Given the description of an element on the screen output the (x, y) to click on. 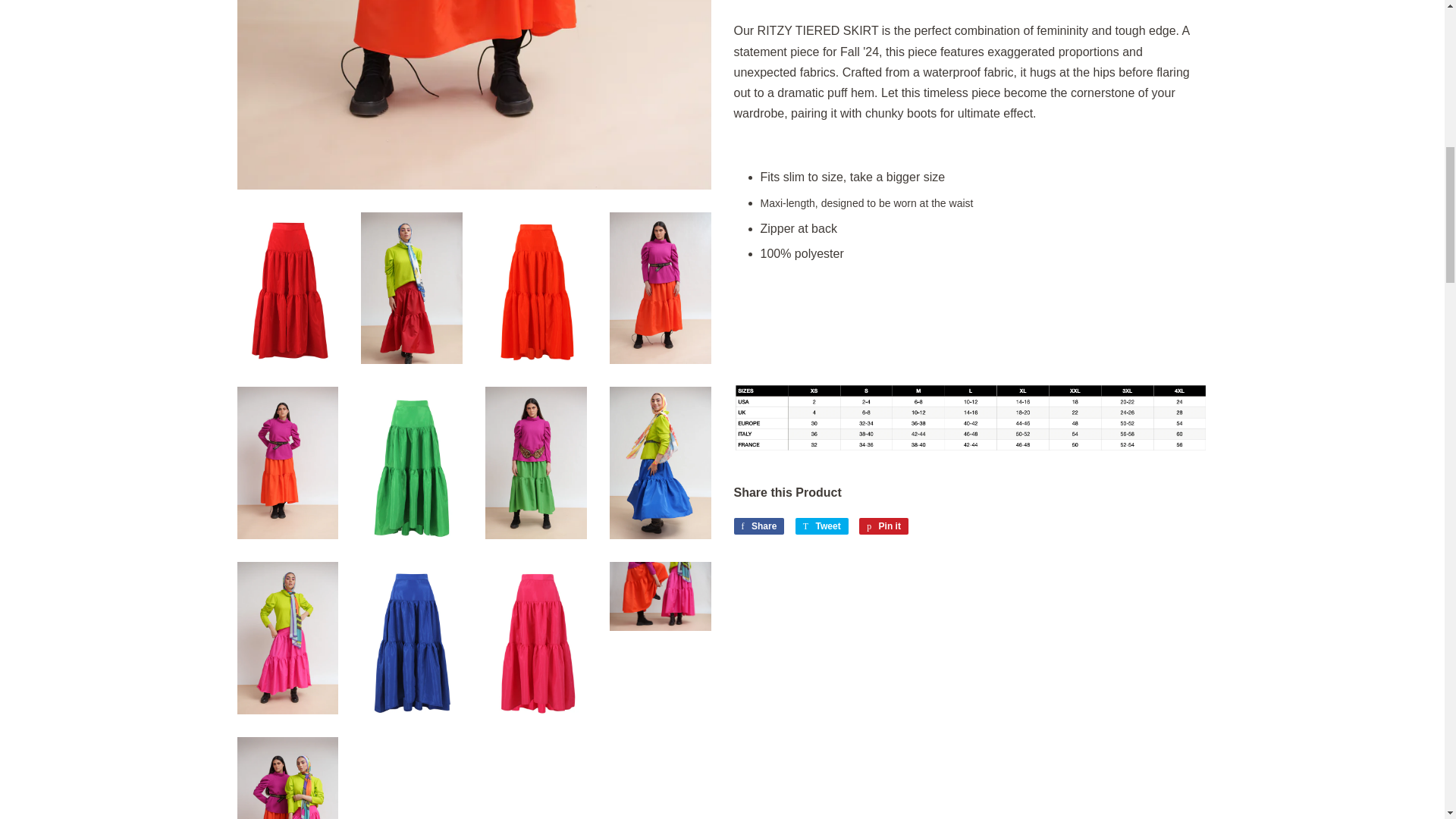
Pin on Pinterest (883, 525)
Share on Facebook (758, 525)
Tweet on Twitter (821, 525)
